Given the description of an element on the screen output the (x, y) to click on. 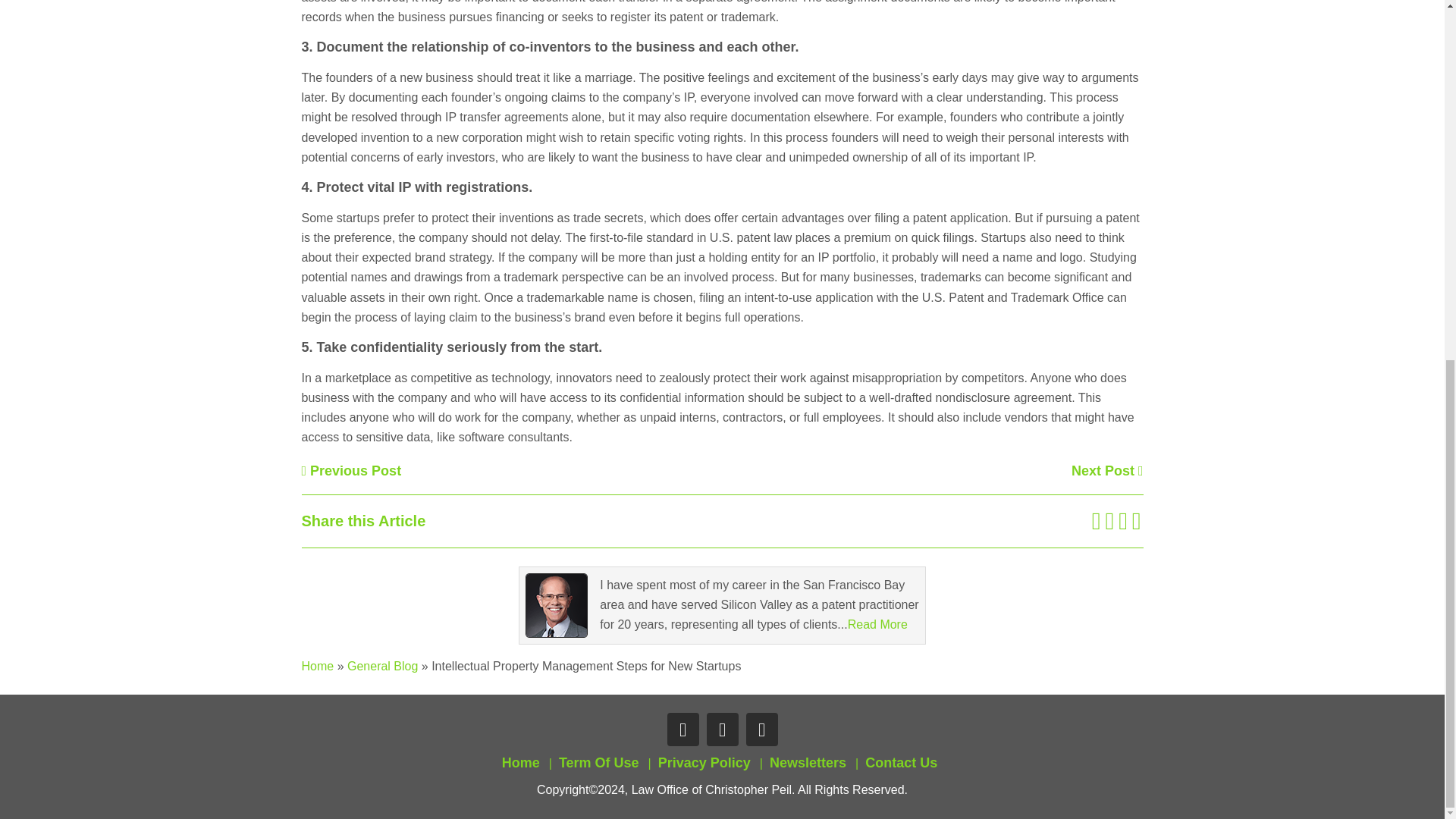
Next Post (1106, 470)
Previous Post (351, 470)
